Given the description of an element on the screen output the (x, y) to click on. 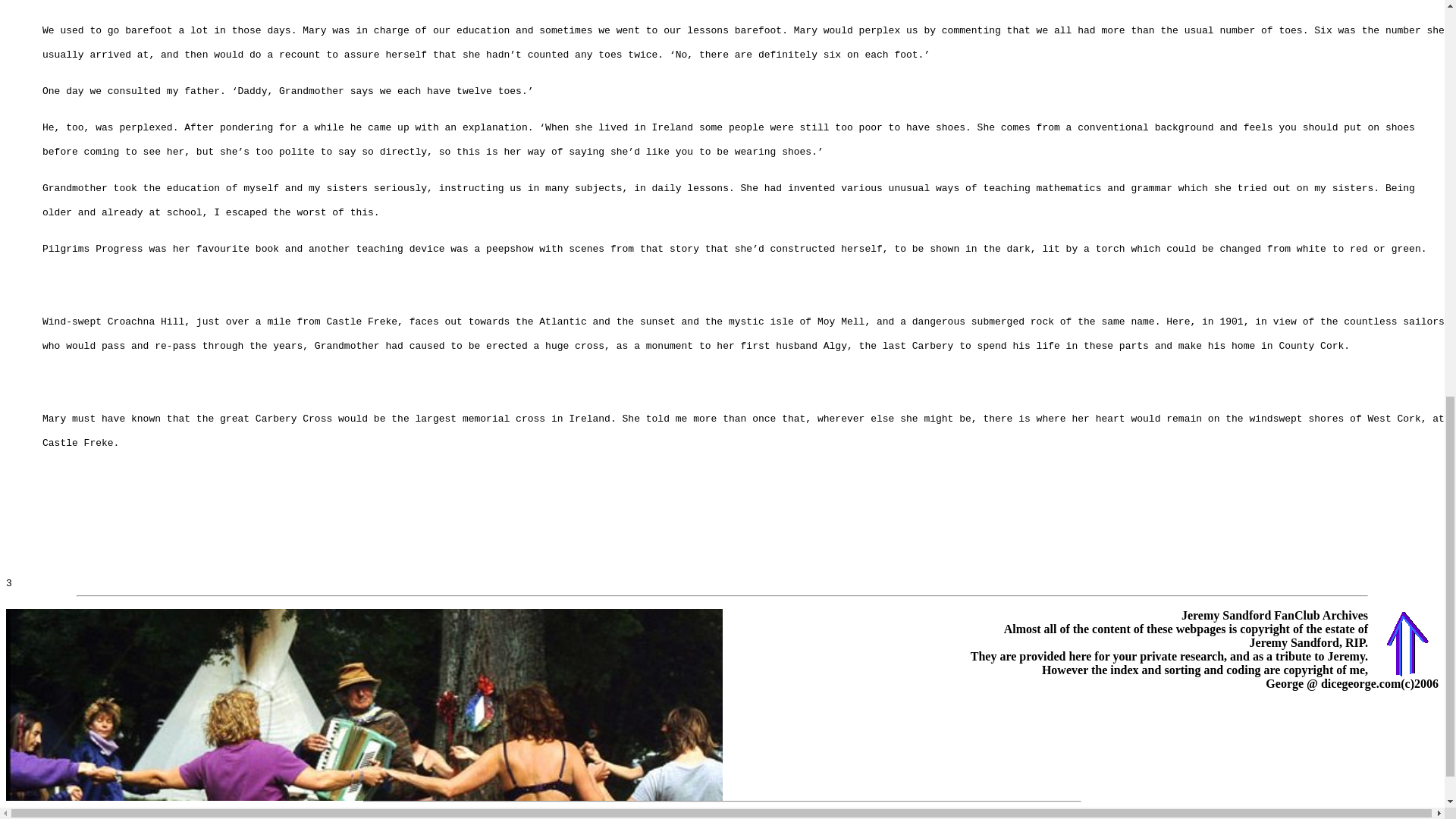
www.JeremySandford.org.uk (701, 813)
